Given the description of an element on the screen output the (x, y) to click on. 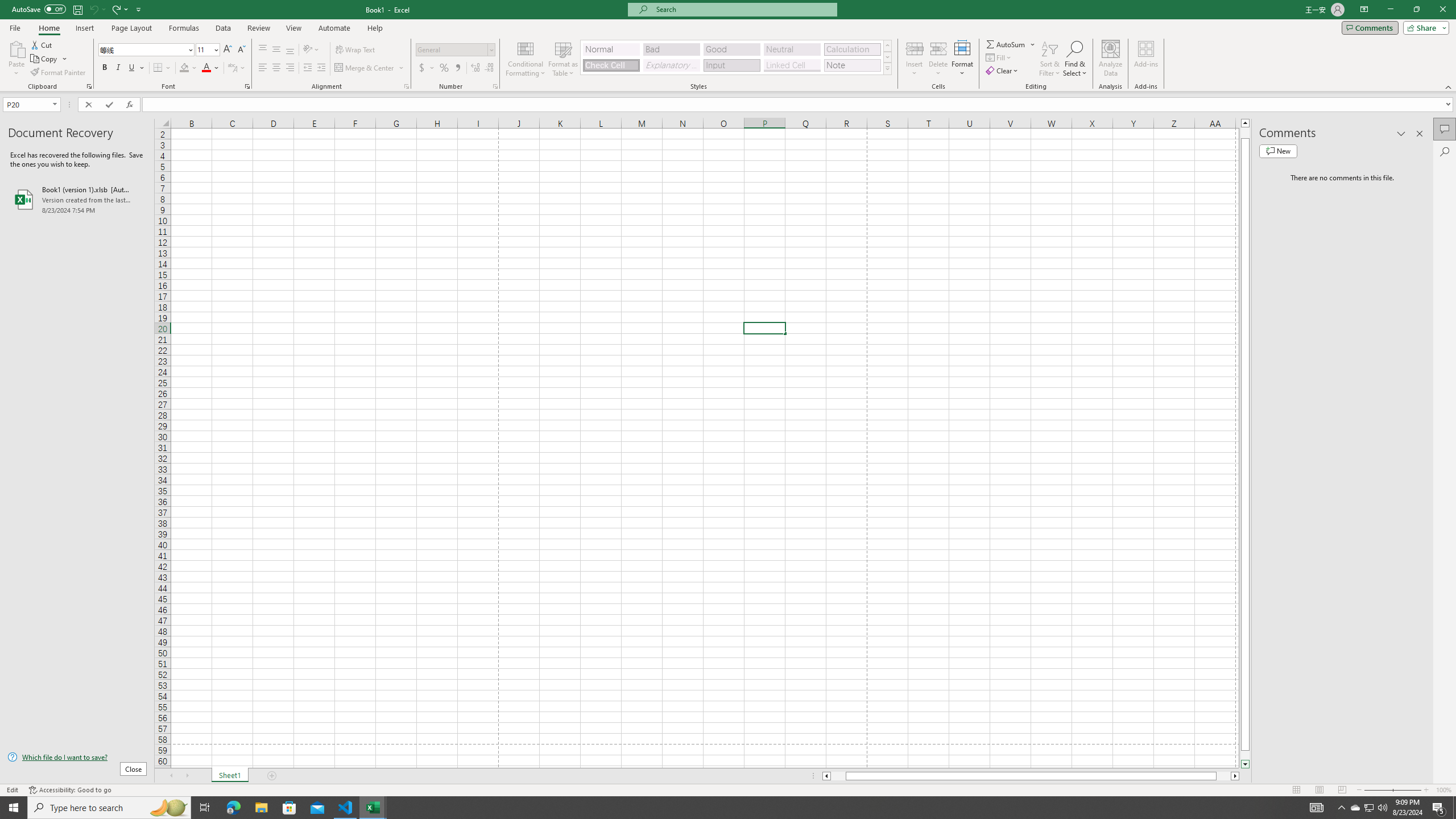
Decrease Font Size (240, 49)
Conditional Formatting (525, 58)
Calculation (852, 49)
Explanatory Text (671, 65)
Align Right (290, 67)
Input (731, 65)
Number Format (451, 49)
Decrease Indent (307, 67)
AutomationID: CellStylesGallery (736, 57)
